Given the description of an element on the screen output the (x, y) to click on. 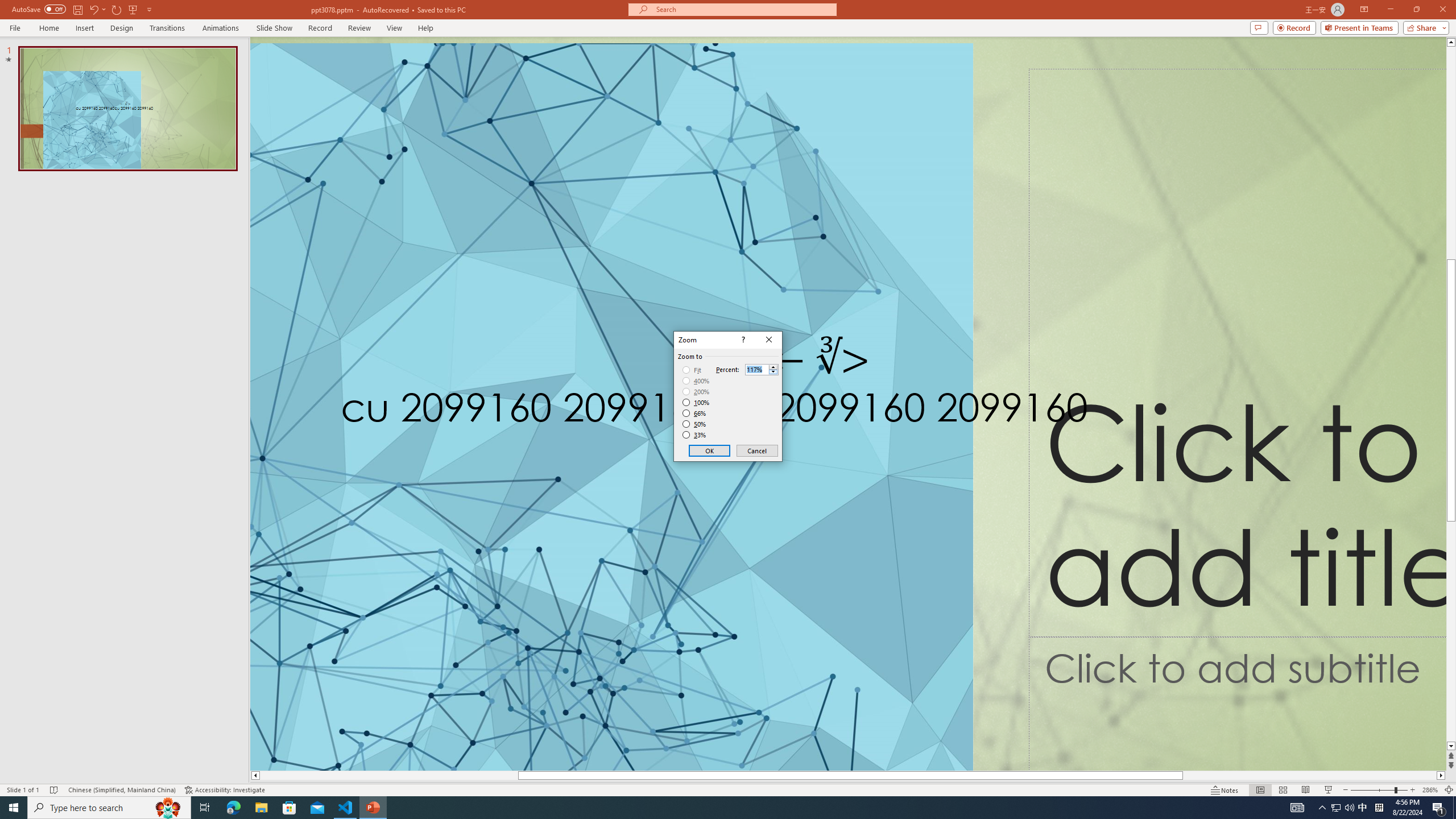
400% (696, 380)
50% (694, 424)
Fit (691, 370)
